Given the description of an element on the screen output the (x, y) to click on. 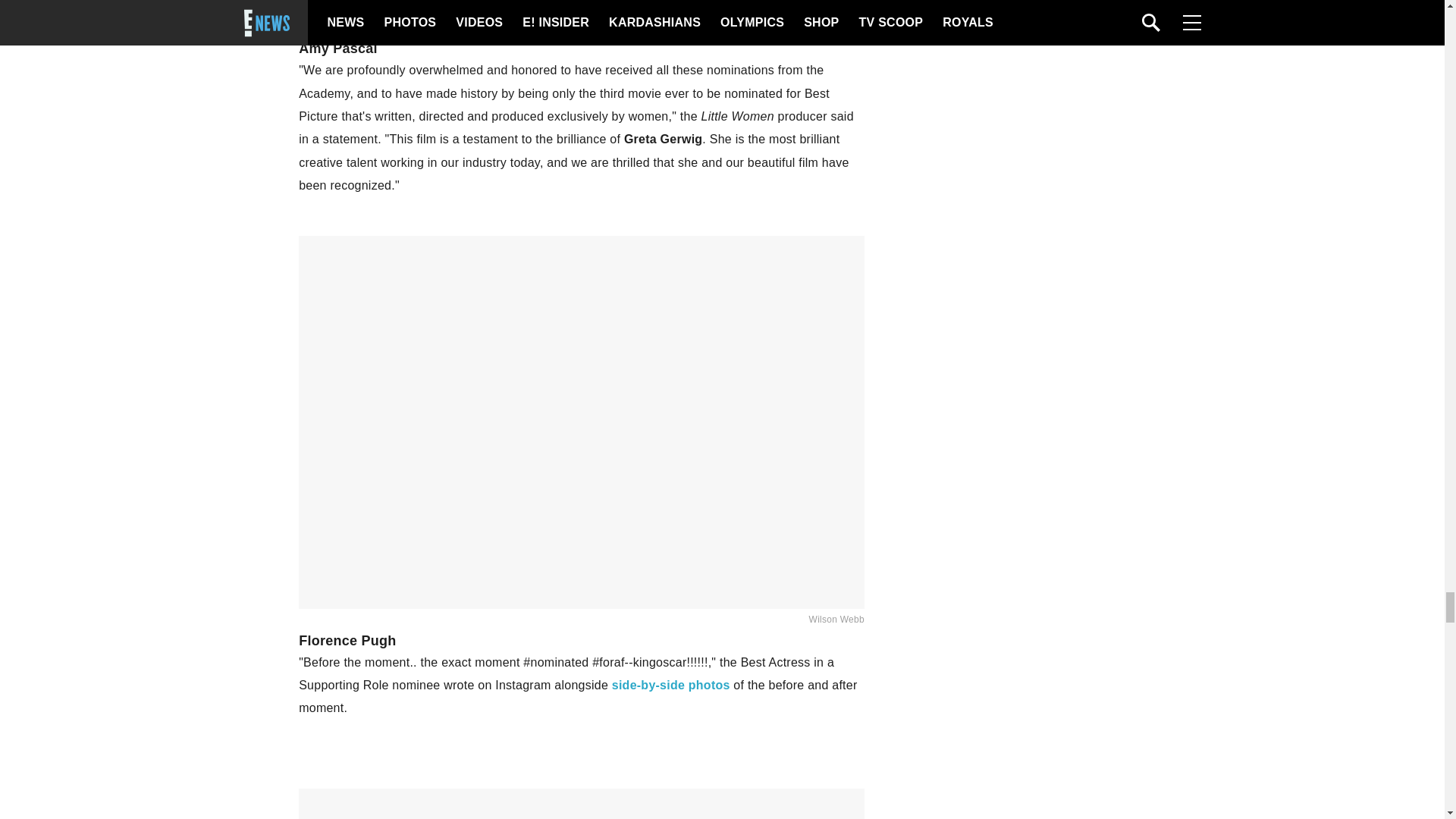
side-by-side photos (670, 684)
